Given the description of an element on the screen output the (x, y) to click on. 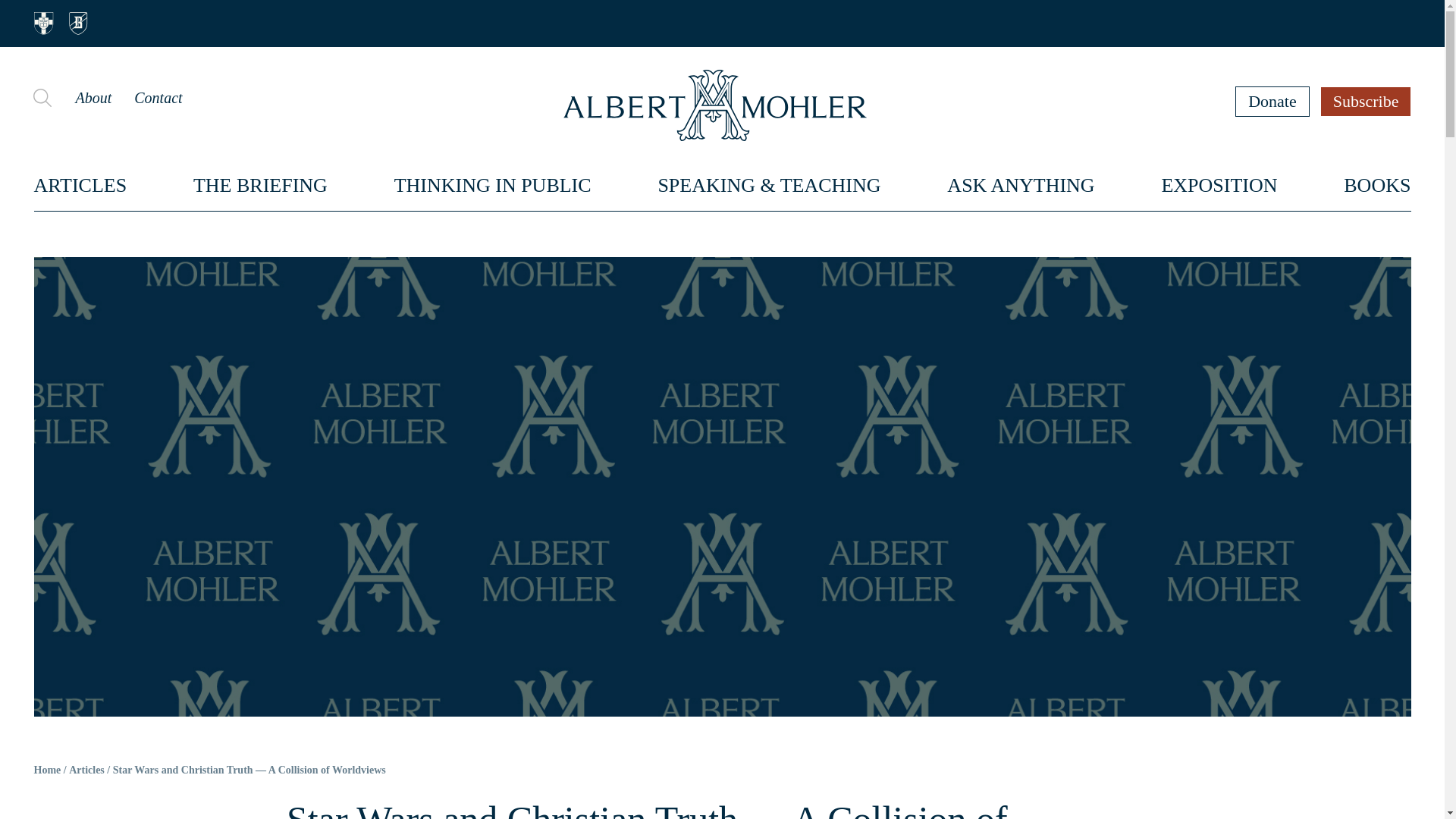
Donate (1272, 101)
Home (47, 770)
Contact (157, 97)
THE BRIEFING (260, 185)
Articles (86, 770)
ARTICLES (79, 185)
BOOKS (1376, 185)
About (93, 97)
ASK ANYTHING (1020, 185)
Subscribe (1366, 101)
